Given the description of an element on the screen output the (x, y) to click on. 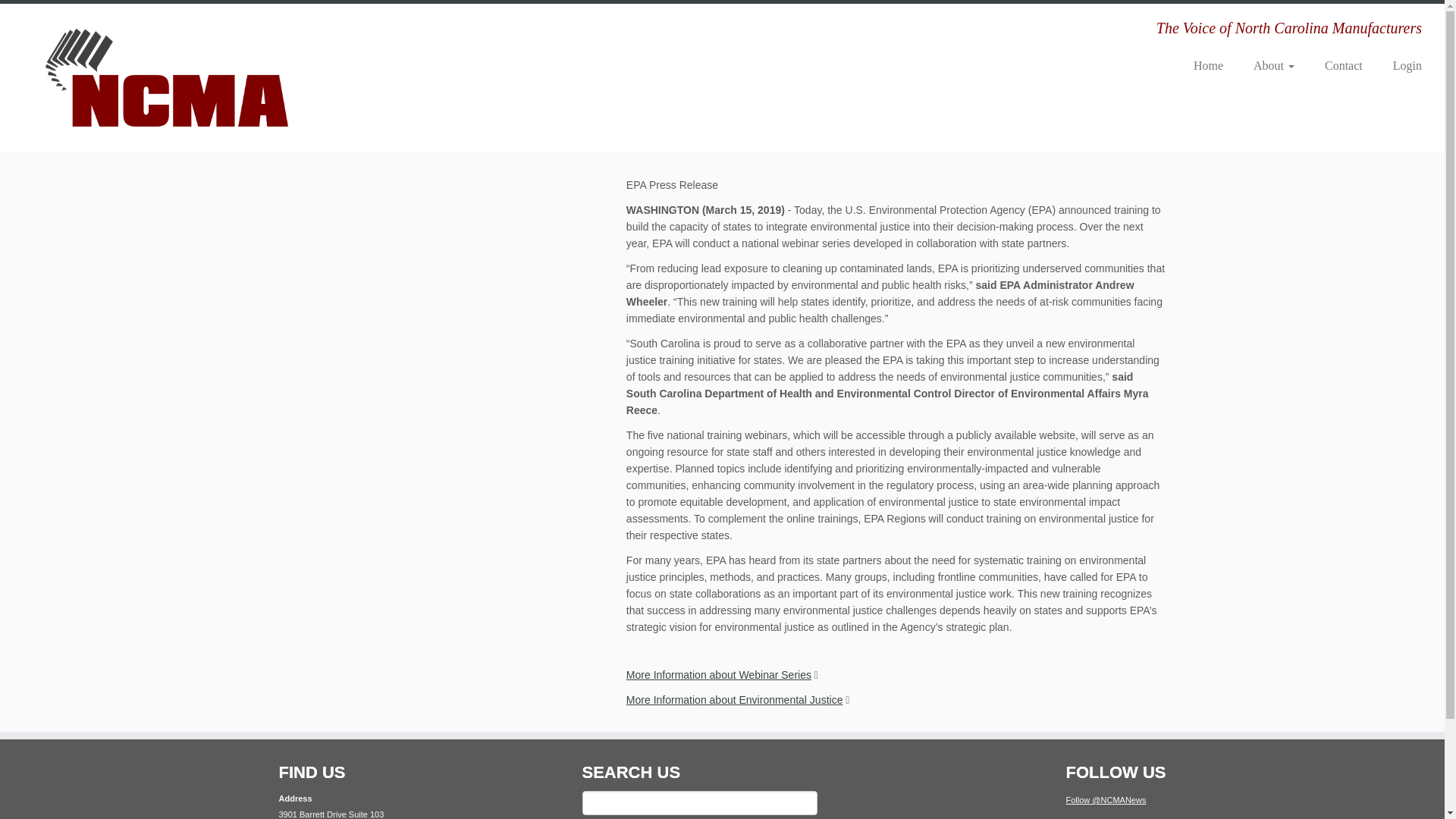
Home (1208, 65)
Contact (1342, 65)
More Information about Webinar Series (718, 674)
Login (1399, 65)
More Information about Environmental Justice (734, 699)
About (1273, 65)
